Given the description of an element on the screen output the (x, y) to click on. 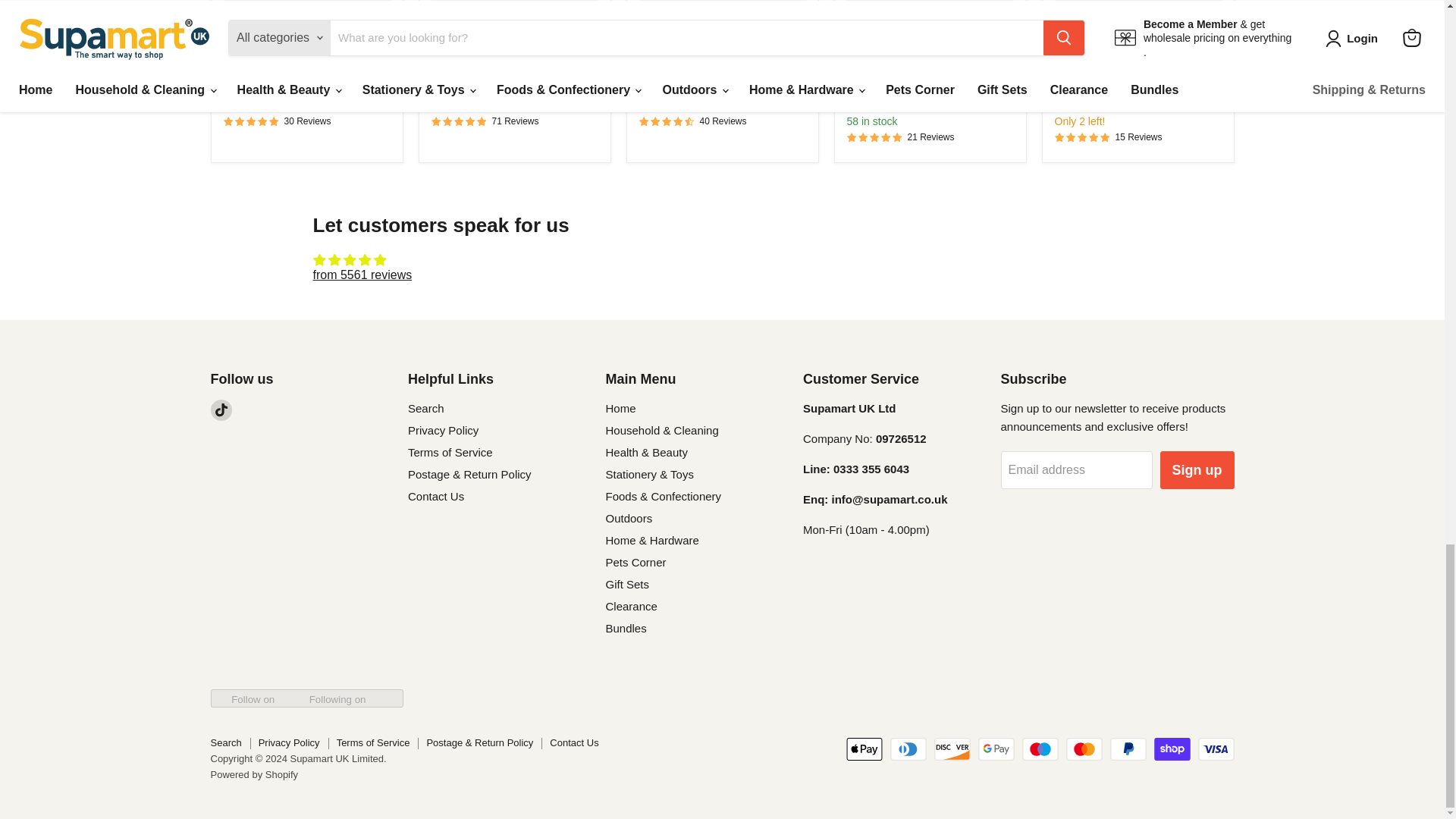
TikTok (221, 409)
